Given the description of an element on the screen output the (x, y) to click on. 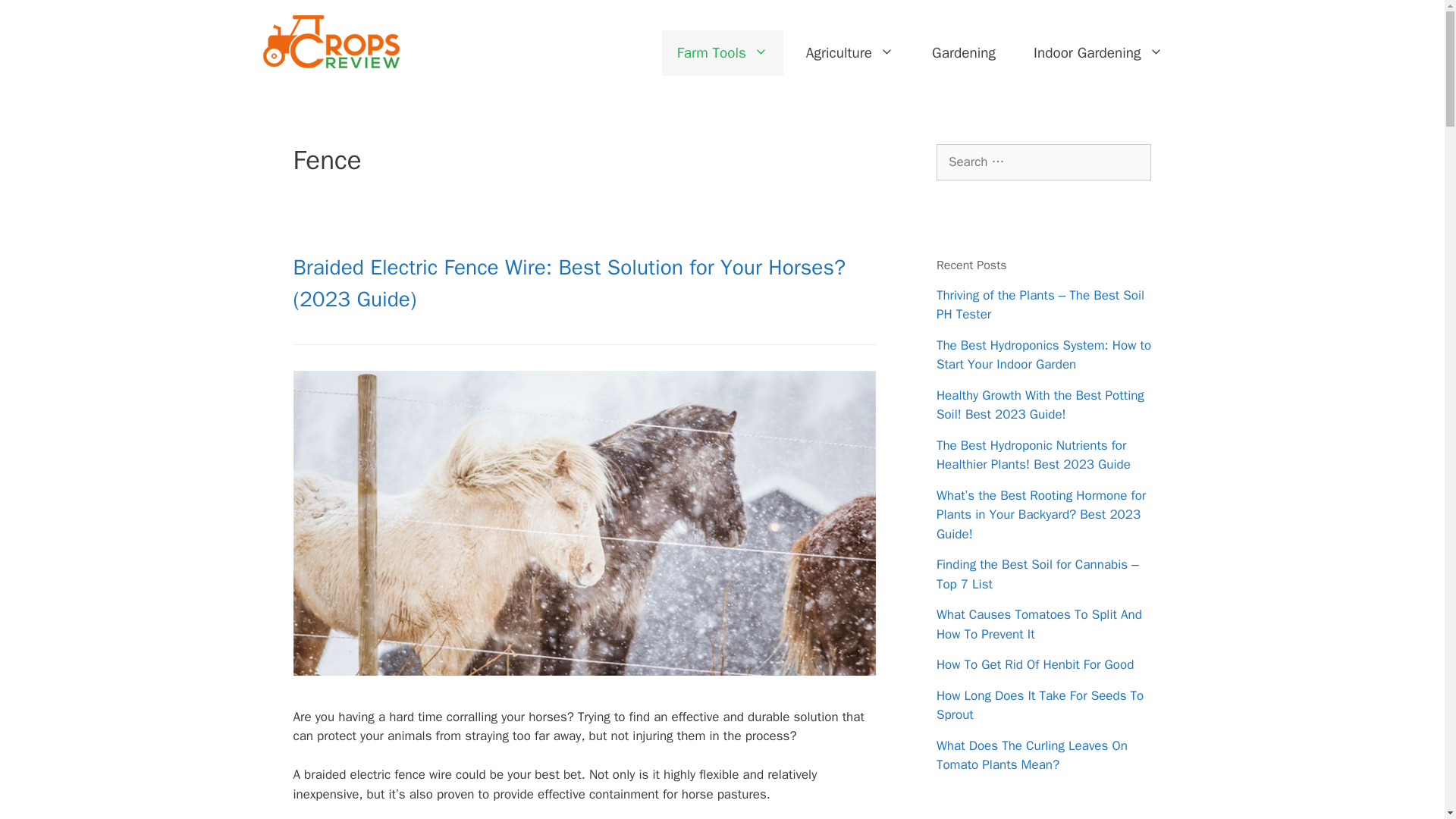
Search for: (1043, 162)
Gardening (963, 53)
Agriculture (849, 53)
Indoor Gardening (1097, 53)
Farm Tools (722, 53)
